Given the description of an element on the screen output the (x, y) to click on. 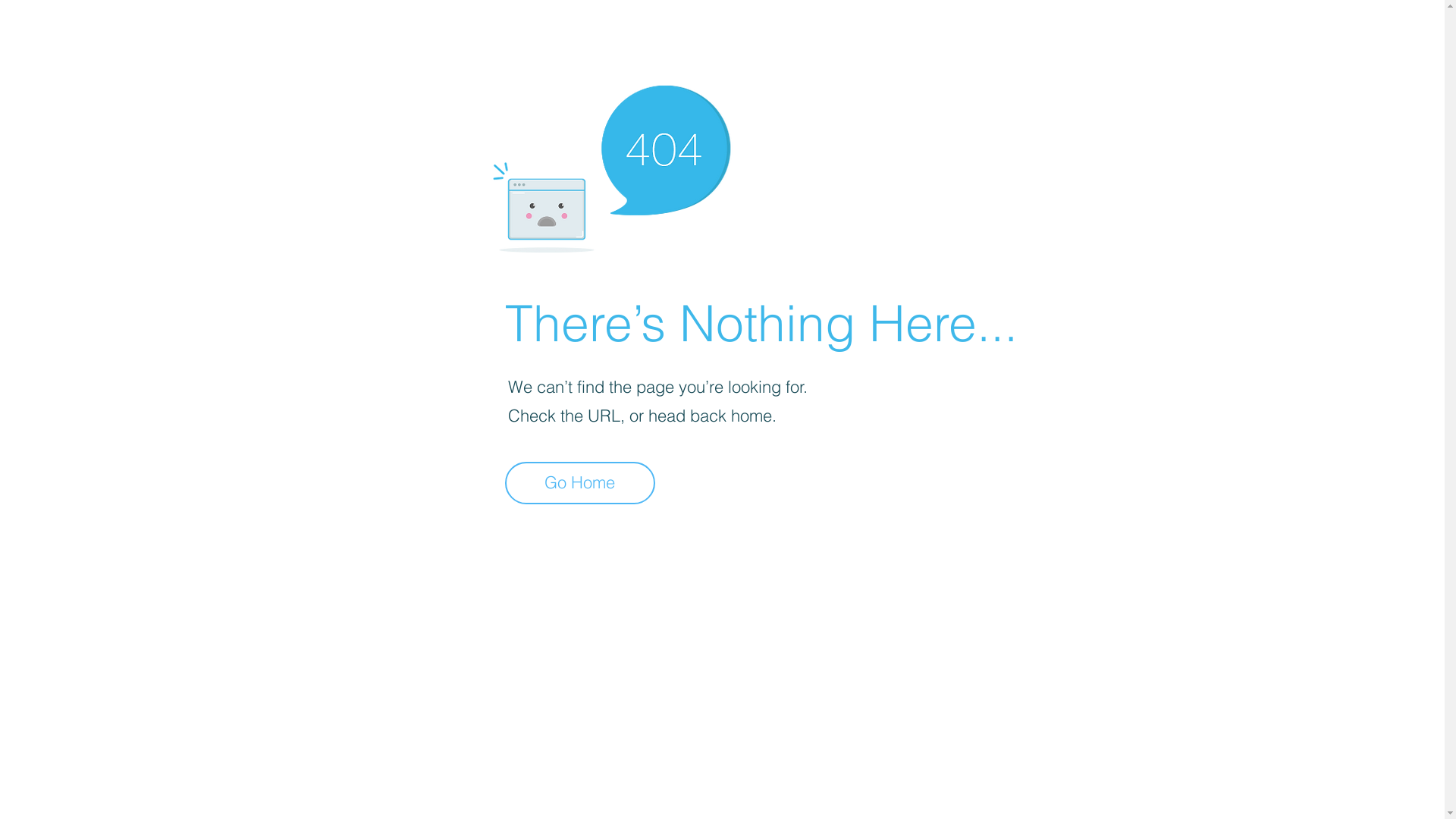
404-icon_2.png Element type: hover (610, 164)
Go Home Element type: text (580, 482)
